Given the description of an element on the screen output the (x, y) to click on. 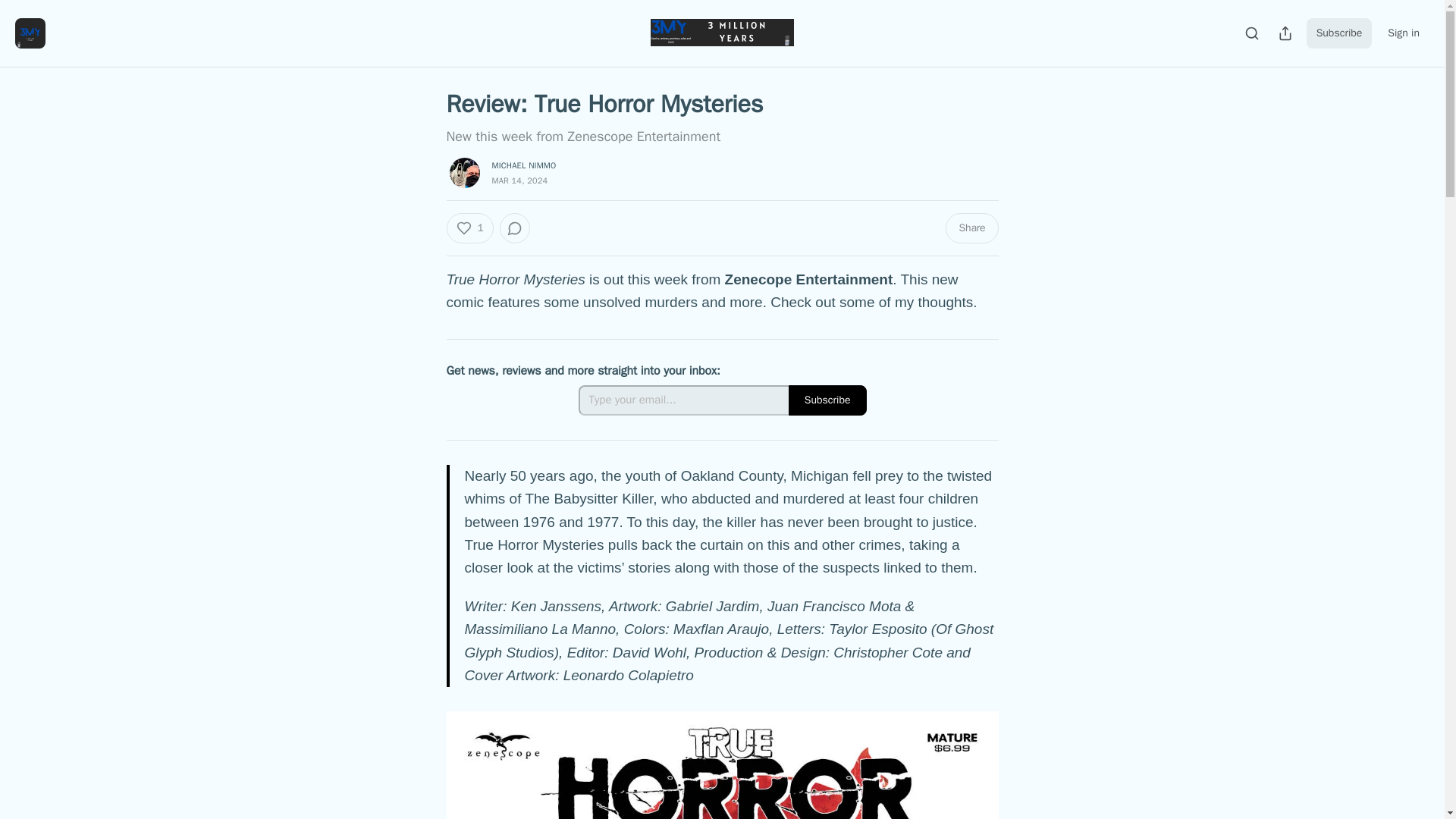
Subscribe (827, 399)
Sign in (1403, 33)
Share (970, 227)
Subscribe (1339, 33)
1 (469, 227)
MICHAEL NIMMO (524, 164)
